Given the description of an element on the screen output the (x, y) to click on. 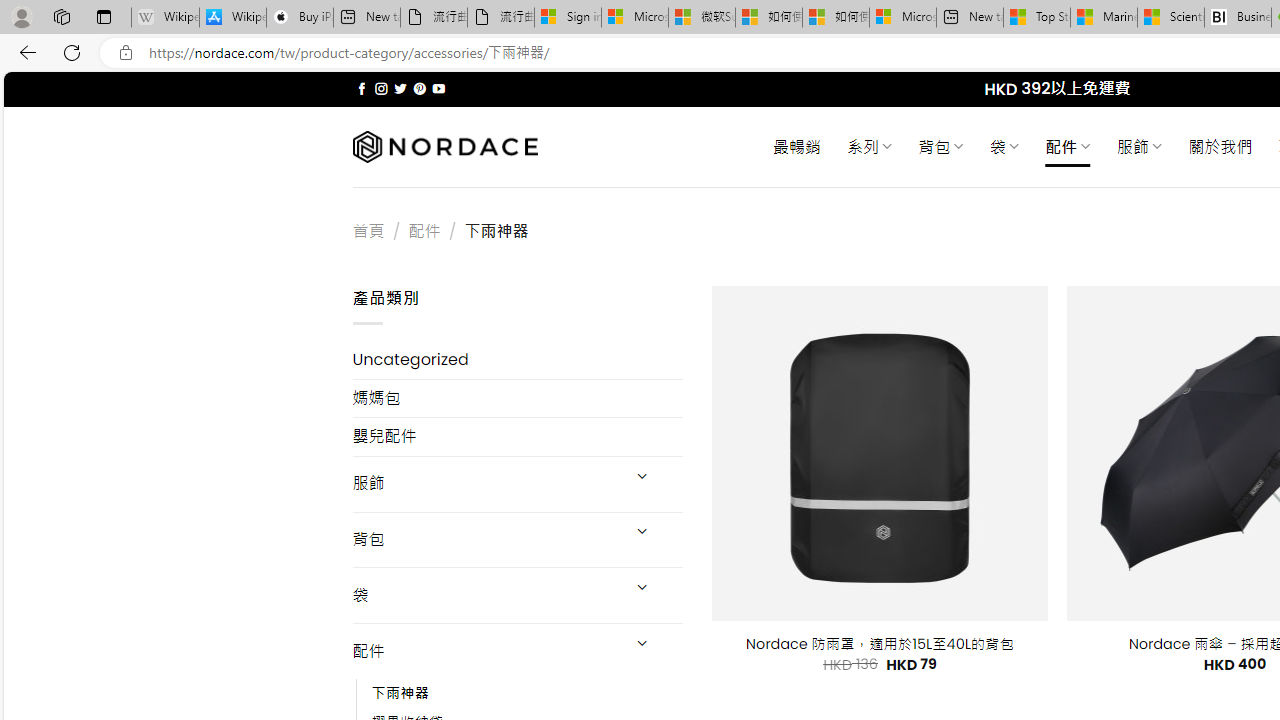
Follow on Facebook (361, 88)
Sign in to your Microsoft account (568, 17)
Follow on Twitter (400, 88)
